Given the description of an element on the screen output the (x, y) to click on. 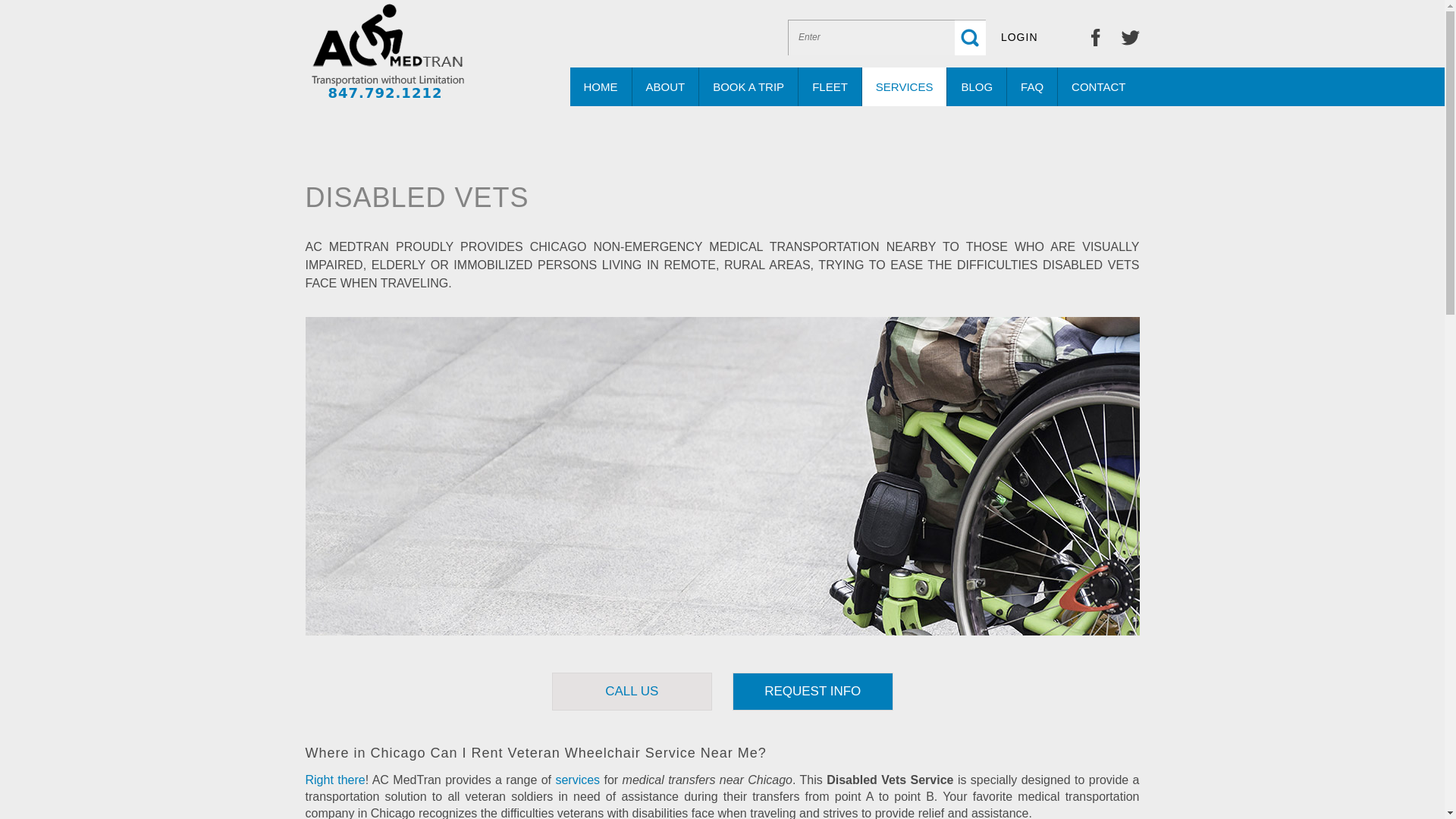
services (576, 779)
CALL US (632, 691)
FLEET (829, 86)
SERVICES (904, 86)
HOME (600, 86)
847.792.1212 (385, 92)
REQUEST INFO (812, 691)
BLOG (977, 86)
Right there (334, 779)
BOOK A TRIP (747, 86)
CONTACT (1098, 86)
ABOUT (665, 86)
FAQ (1032, 86)
